Given the description of an element on the screen output the (x, y) to click on. 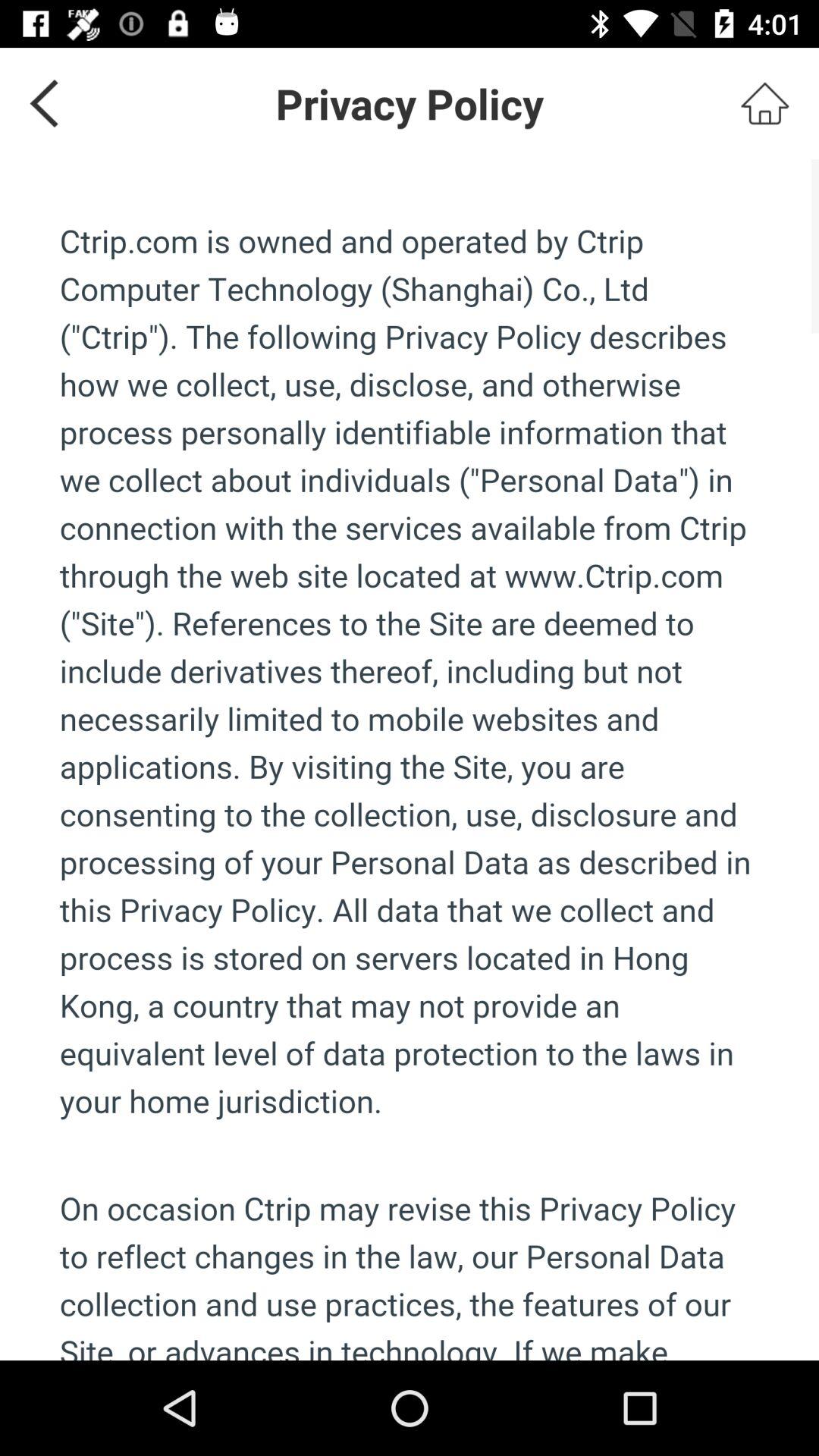
go to home (764, 103)
